Given the description of an element on the screen output the (x, y) to click on. 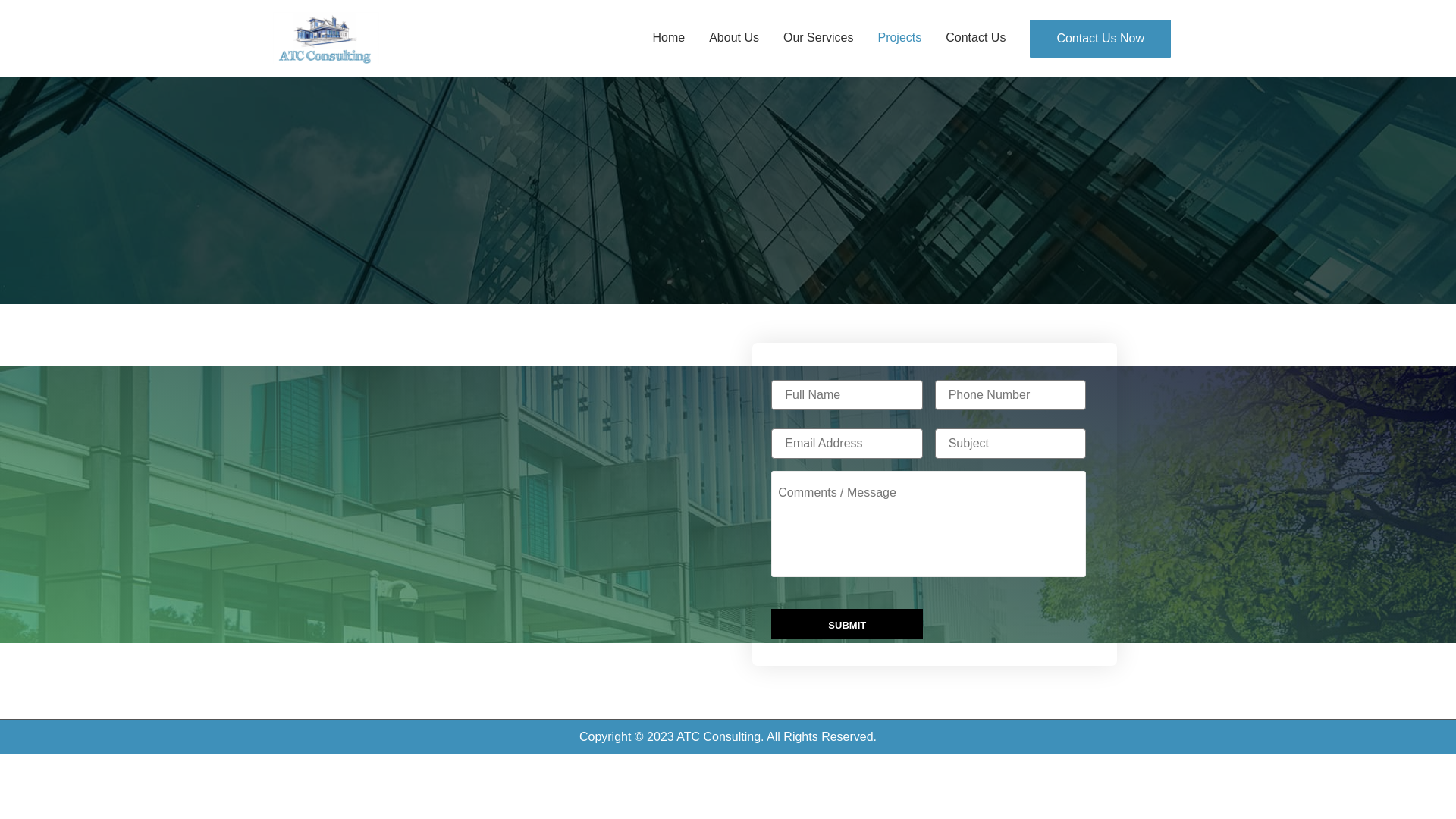
Contact Us Now Element type: text (1099, 38)
Home Element type: text (668, 37)
Our Services Element type: text (818, 37)
Contact Us Now Element type: text (1099, 38)
Contact Us Element type: text (975, 37)
Projects Element type: text (899, 37)
About Us Element type: text (733, 37)
Submit Element type: text (846, 623)
